Given the description of an element on the screen output the (x, y) to click on. 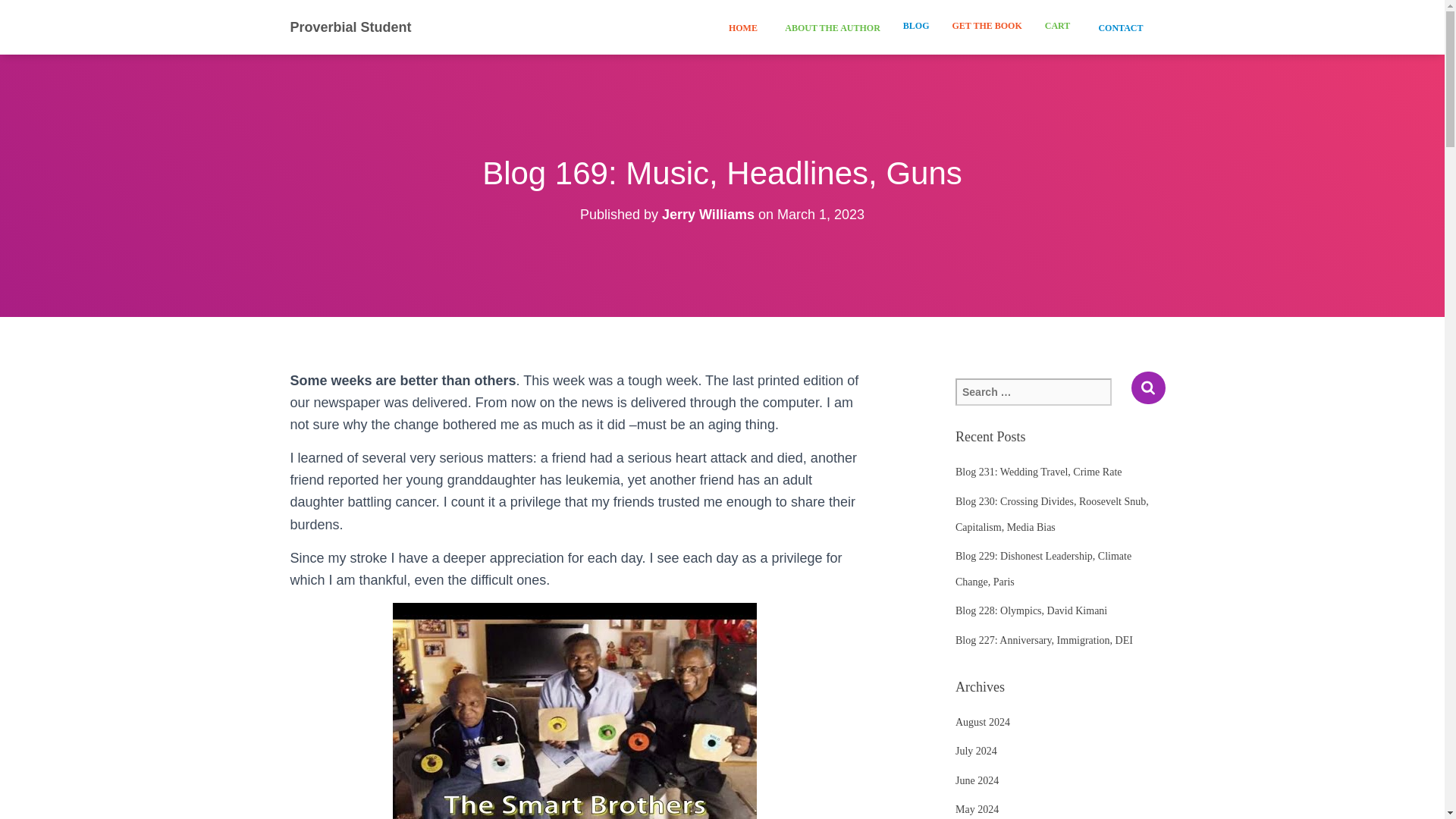
July 2024 (976, 750)
Proverbial Student (351, 26)
Blog 229: Dishonest Leadership, Climate Change, Paris (1043, 569)
 ABOUT THE AUTHOR (829, 26)
BLOG (915, 26)
Search (1148, 387)
BLOG (915, 26)
June 2024 (976, 780)
Proverbial Student (351, 26)
Blog 227: Anniversary, Immigration, DEI (1043, 640)
